Given the description of an element on the screen output the (x, y) to click on. 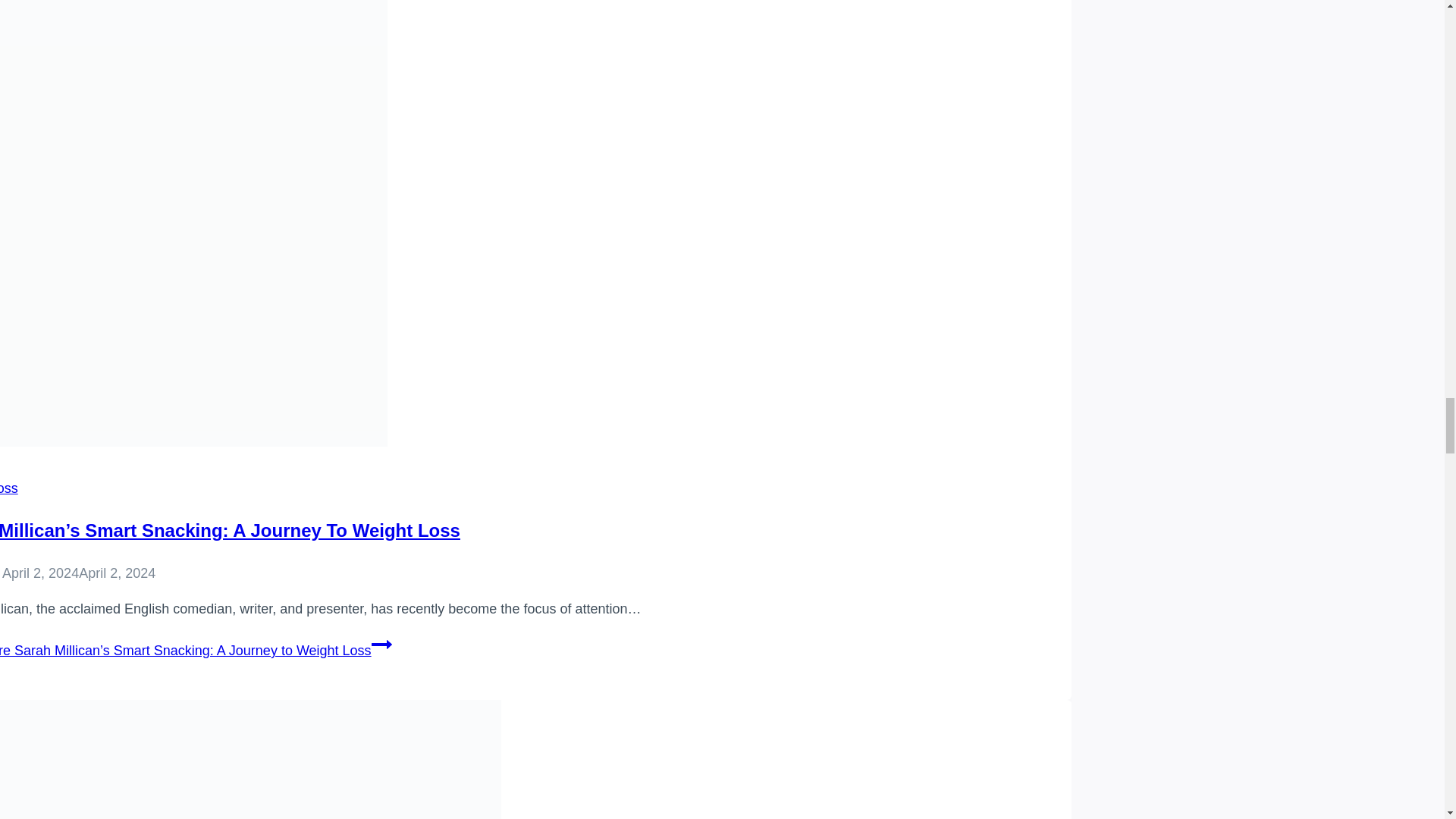
Weight Loss (8, 488)
